Given the description of an element on the screen output the (x, y) to click on. 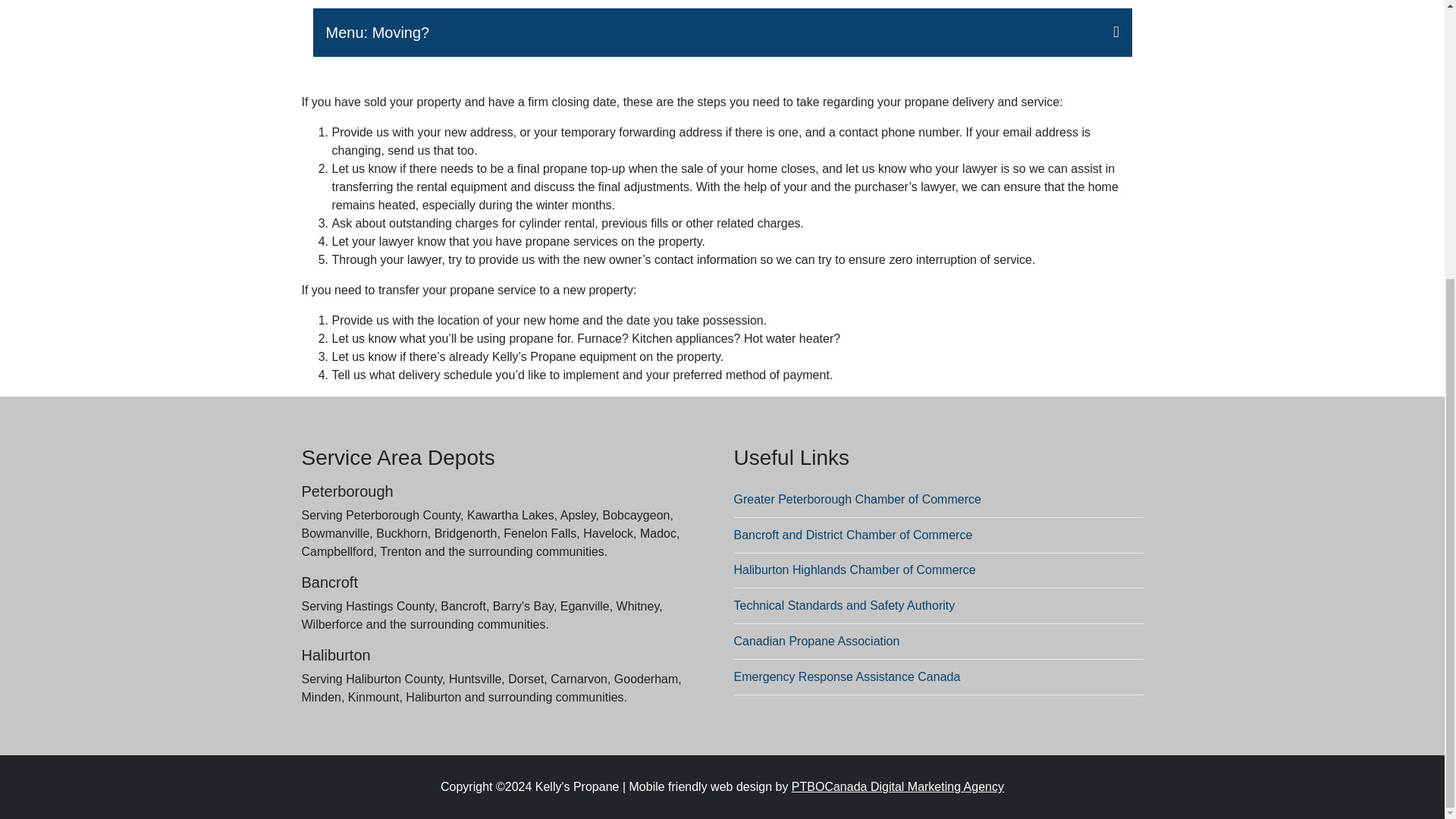
Menu: Moving? (722, 32)
